Given the description of an element on the screen output the (x, y) to click on. 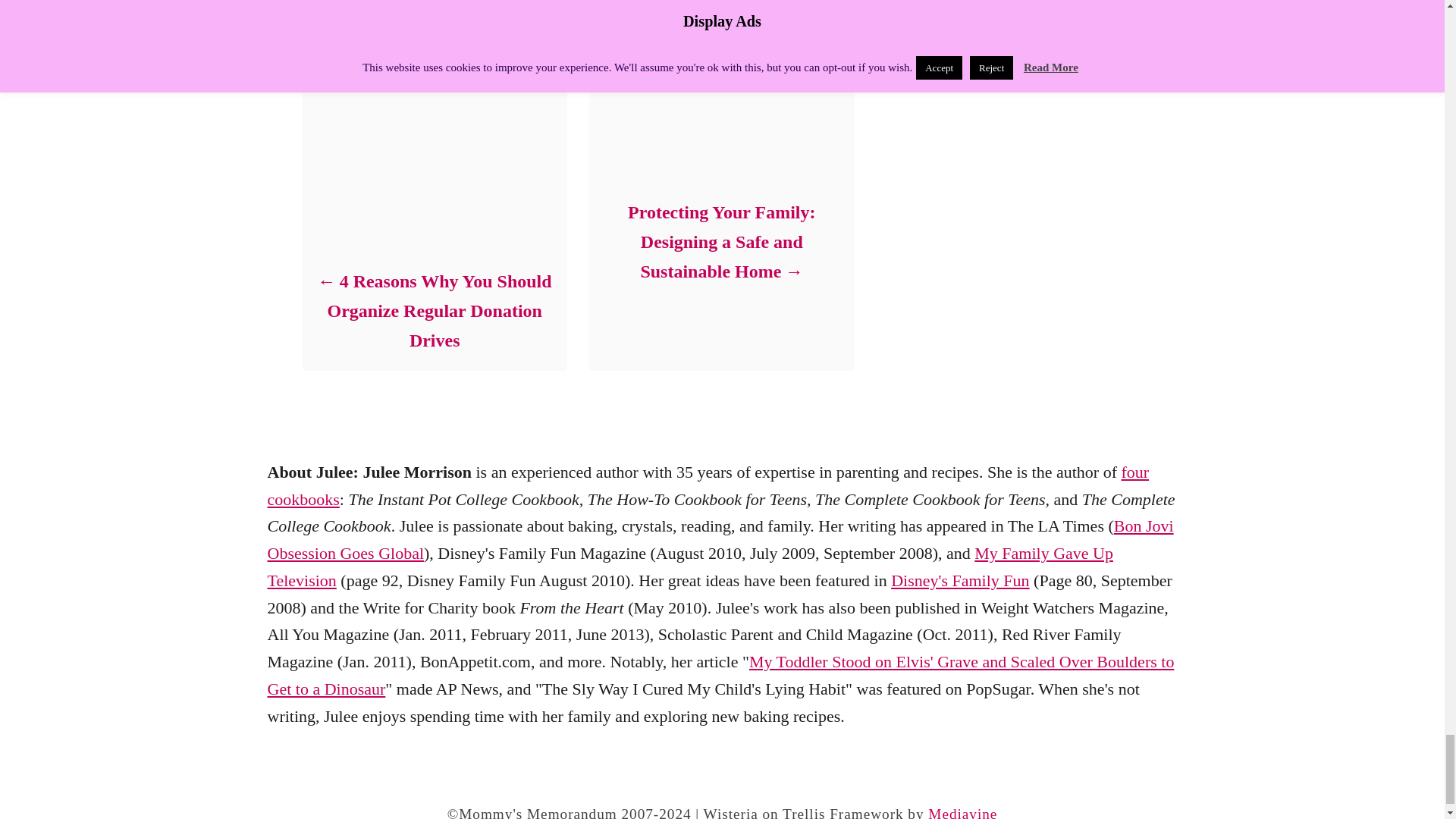
4 Reasons Why You Should Organize Regular Donation Drives (434, 310)
My Family Gave Up Television (689, 566)
Disney's Family Fun (960, 579)
four cookbooks (707, 485)
Bon Jovi Obsession Goes Global (719, 539)
